Given the description of an element on the screen output the (x, y) to click on. 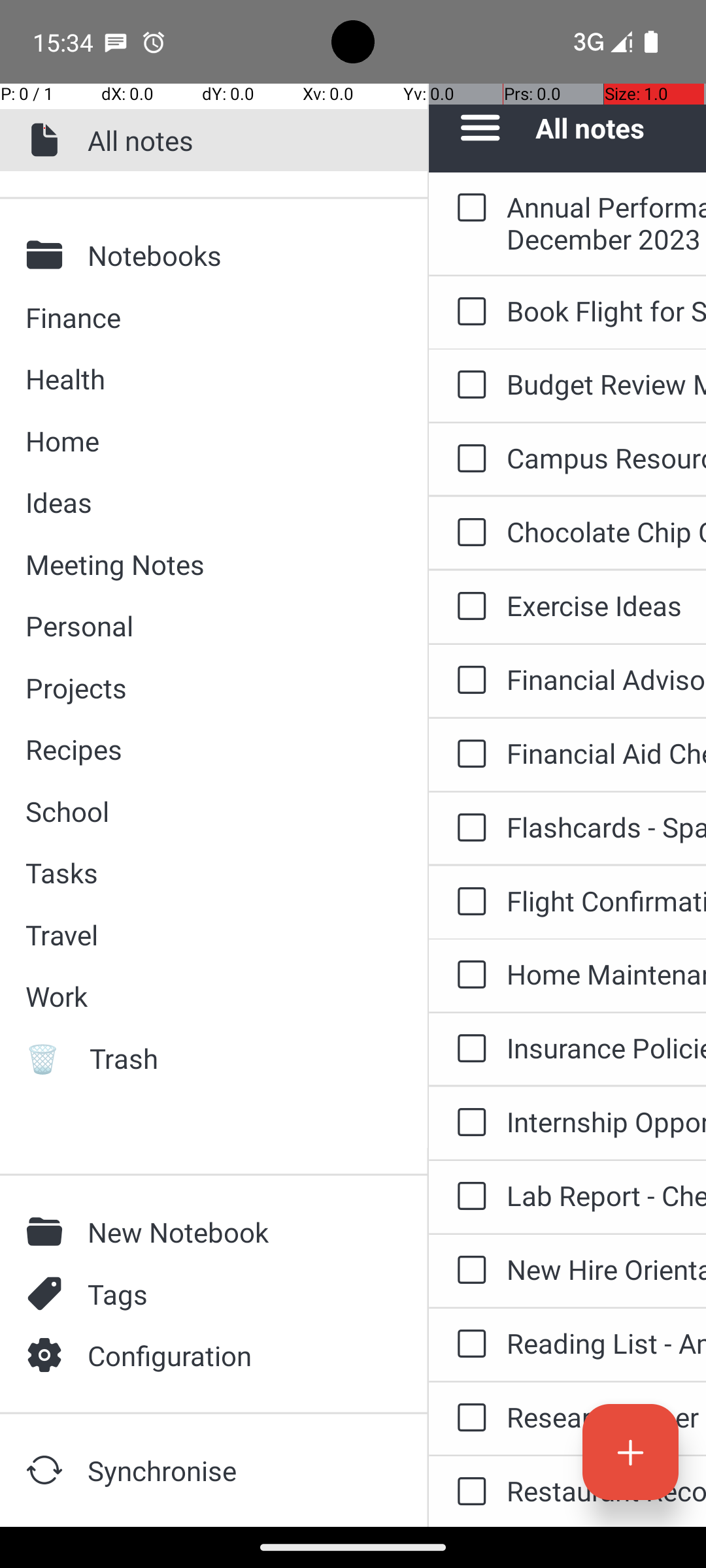
 Element type: android.widget.TextView (47, 254)
Notebooks Element type: android.widget.TextView (235, 254)
 Element type: android.widget.TextView (47, 1231)
New Notebook Element type: android.widget.TextView (235, 1231)
 Element type: android.widget.TextView (47, 1293)
 Element type: android.widget.TextView (47, 1354)
Configuration Element type: android.widget.TextView (235, 1354)
 Element type: android.widget.TextView (47, 1469)
Synchronise Element type: android.widget.TextView (235, 1469)
to-do: Book Flight for Summer Vacation Element type: android.widget.CheckBox (467, 312)
Book Flight for Summer Vacation Element type: android.widget.TextView (606, 310)
Budget Review Meeting Element type: android.widget.TextView (606, 383)
to-do: Campus Resources - Writing Center Element type: android.widget.CheckBox (467, 459)
Campus Resources - Writing Center Element type: android.widget.TextView (606, 457)
to-do: Chocolate Chip Cookies Element type: android.widget.CheckBox (467, 533)
Chocolate Chip Cookies Element type: android.widget.TextView (606, 531)
to-do: Exercise Ideas Element type: android.widget.CheckBox (467, 606)
Exercise Ideas Element type: android.widget.TextView (606, 604)
to-do: Financial Aid Checklist Element type: android.widget.CheckBox (467, 754)
to-do: Flashcards - Spanish Vocabulary Element type: android.widget.CheckBox (467, 828)
Flashcards - Spanish Vocabulary Element type: android.widget.TextView (606, 826)
to-do: Flight Confirmation - Round-trip to Tokyo Element type: android.widget.CheckBox (467, 902)
to-do: Home Maintenance Schedule Element type: android.widget.CheckBox (467, 975)
Home Maintenance Schedule Element type: android.widget.TextView (606, 973)
to-do: Insurance Policies Summary Element type: android.widget.CheckBox (467, 1049)
to-do: Internship Opportunities - Summer 2024 Element type: android.widget.CheckBox (467, 1123)
Internship Opportunities - Summer 2024 Element type: android.widget.TextView (606, 1121)
to-do: Lab Report - Chemistry Experiment Element type: android.widget.CheckBox (467, 1196)
Lab Report - Chemistry Experiment Element type: android.widget.TextView (606, 1194)
to-do: Reading List - American Literature Element type: android.widget.CheckBox (467, 1344)
Reading List - American Literature Element type: android.widget.TextView (606, 1342)
to-do: Research Paper Outline - Climate Change Element type: android.widget.CheckBox (467, 1418)
Research Paper Outline - Climate Change Element type: android.widget.TextView (606, 1416)
 Element type: android.widget.TextView (47, 139)
🗑️ Element type: android.widget.TextView (48, 1057)
